Given the description of an element on the screen output the (x, y) to click on. 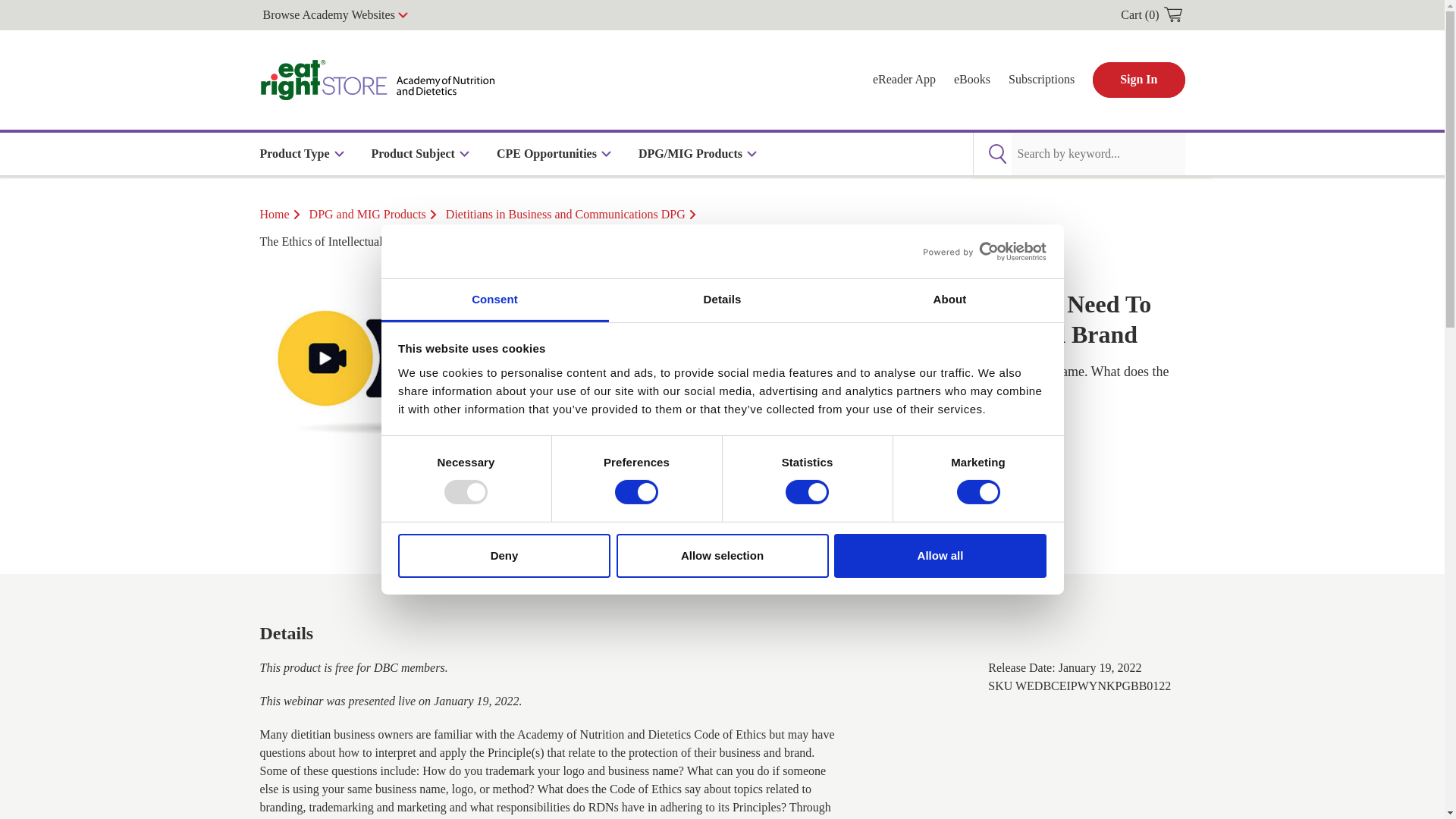
Details (721, 300)
Add to Cart (735, 510)
1 (617, 510)
About (948, 300)
Consent (494, 300)
